Given the description of an element on the screen output the (x, y) to click on. 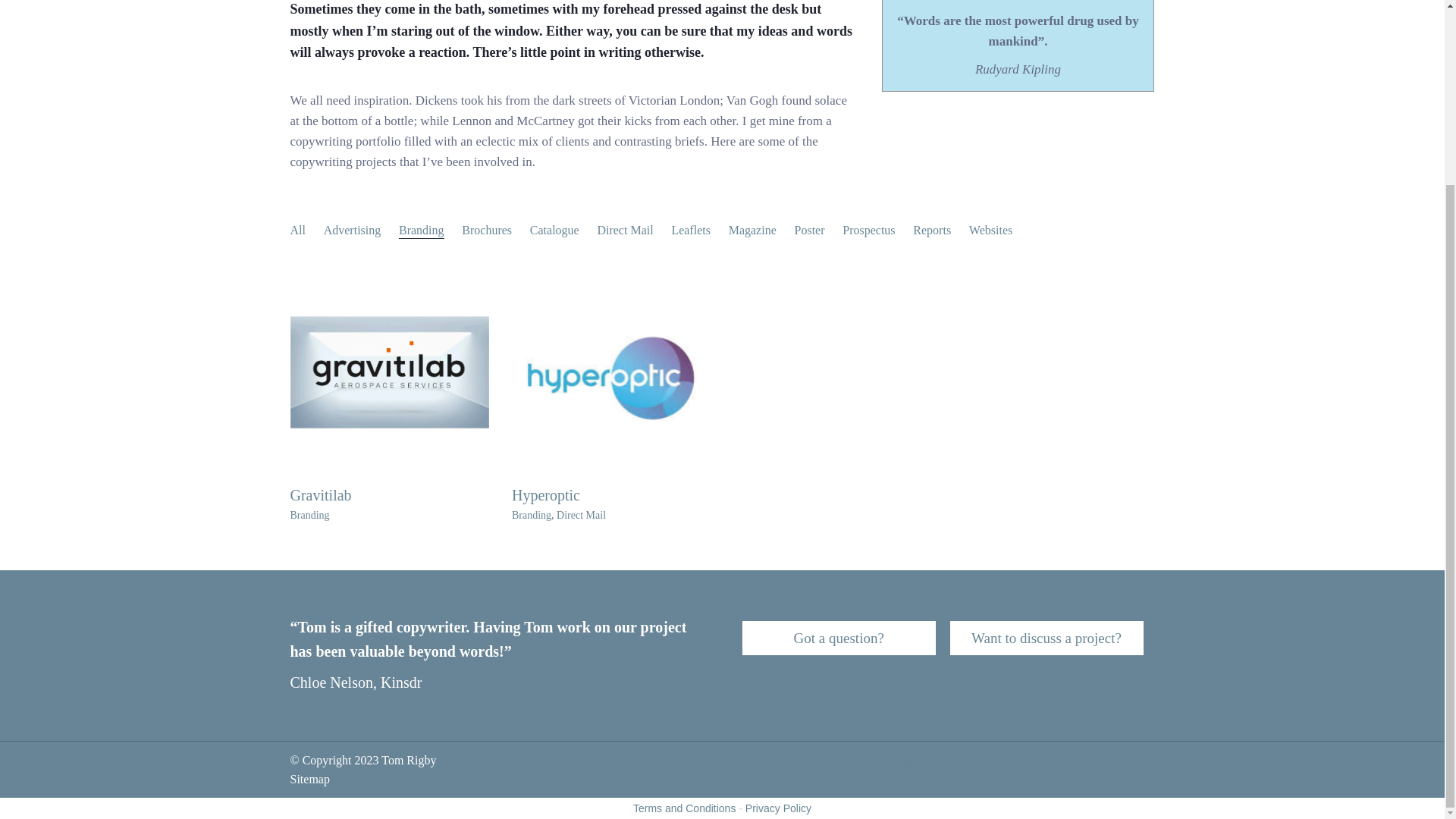
Gravitilab (319, 494)
Twitter X (982, 765)
Hyperoptic (545, 494)
Portfolio Tom Rigby (389, 372)
Magazine (752, 229)
Instagram (1055, 765)
LinkedIn (911, 765)
Why (839, 637)
Websites (990, 229)
Portfolio Tom Rigby (611, 372)
Brochures (486, 229)
Reports (931, 229)
All (296, 229)
Direct Mail (624, 229)
Facebook (1128, 765)
